Given the description of an element on the screen output the (x, y) to click on. 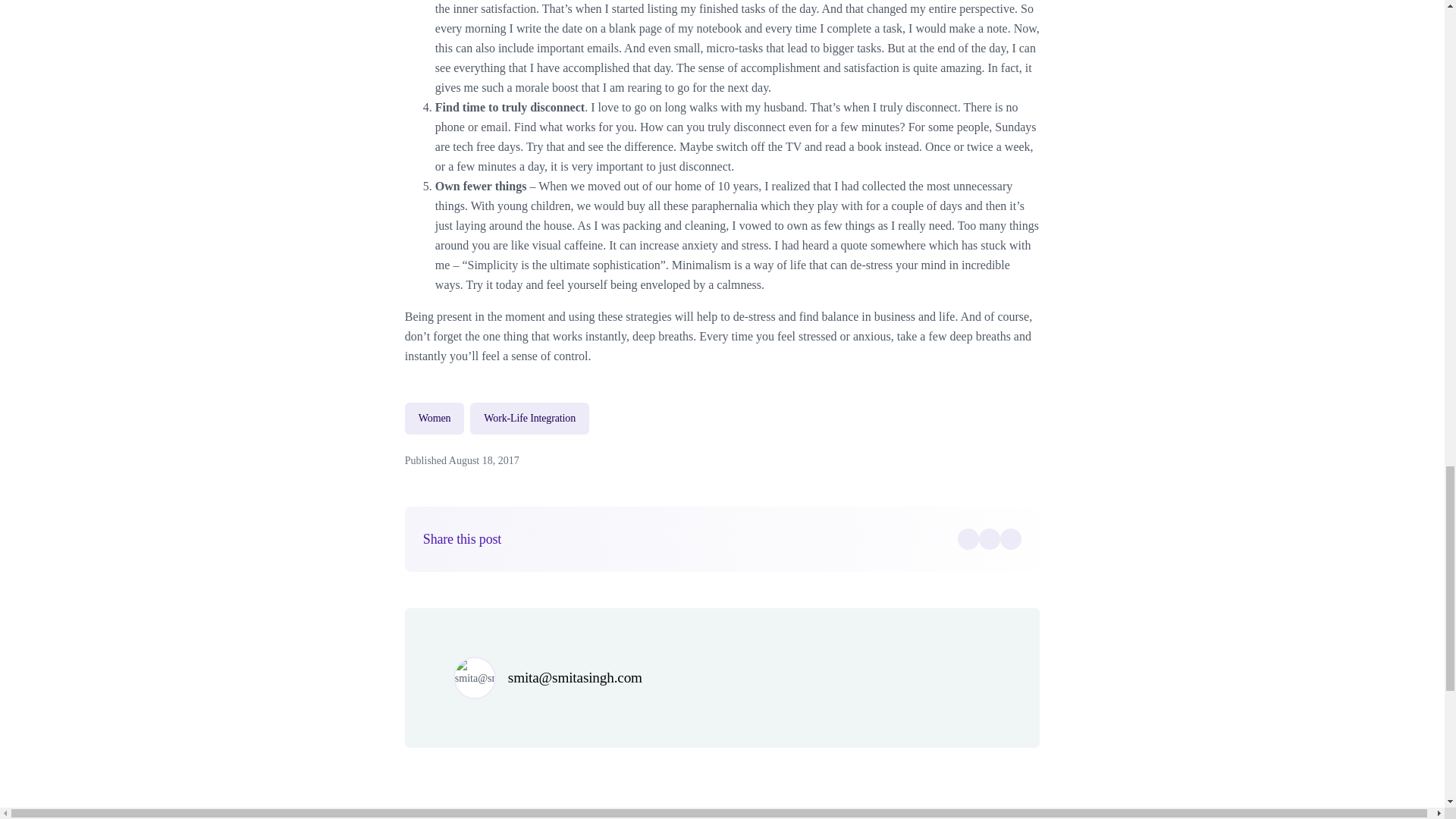
Twitter (989, 538)
LinkedIn (1011, 538)
Facebook (968, 538)
